Given the description of an element on the screen output the (x, y) to click on. 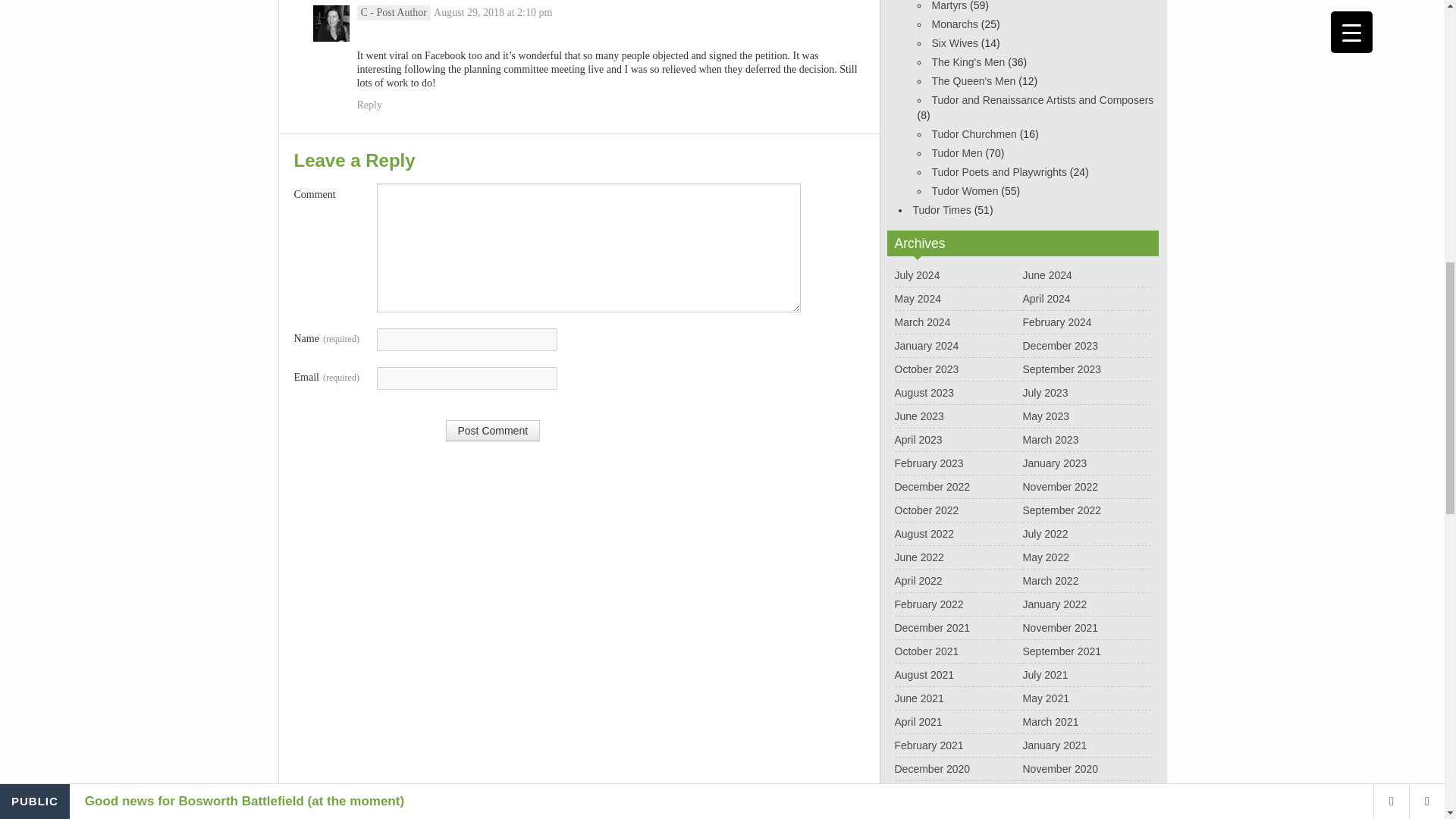
Reply (368, 105)
Post Comment (492, 430)
Post Comment (492, 430)
